Given the description of an element on the screen output the (x, y) to click on. 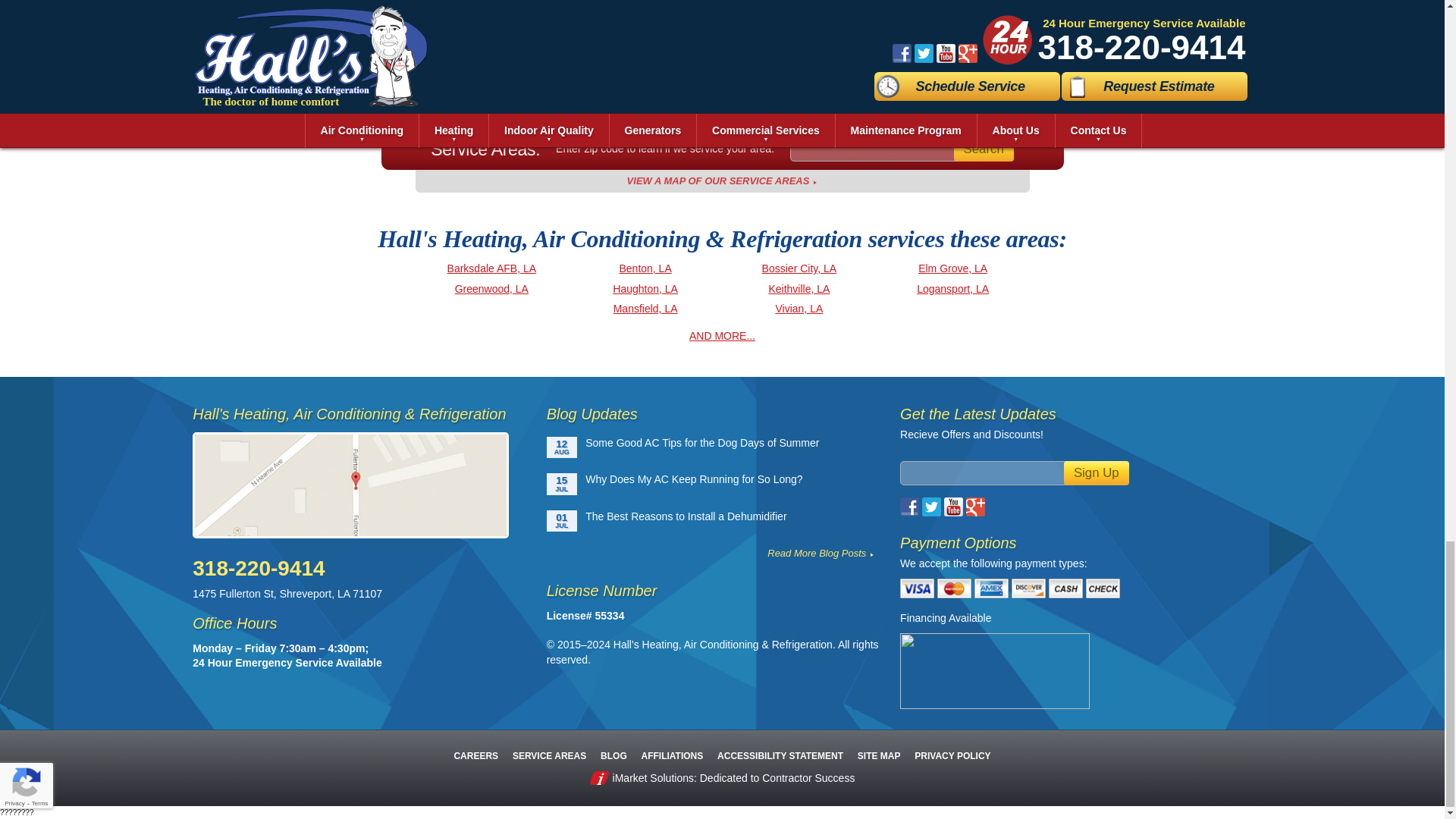
Search (983, 149)
View a map of our service areas (358, 485)
View Map (722, 180)
